Given the description of an element on the screen output the (x, y) to click on. 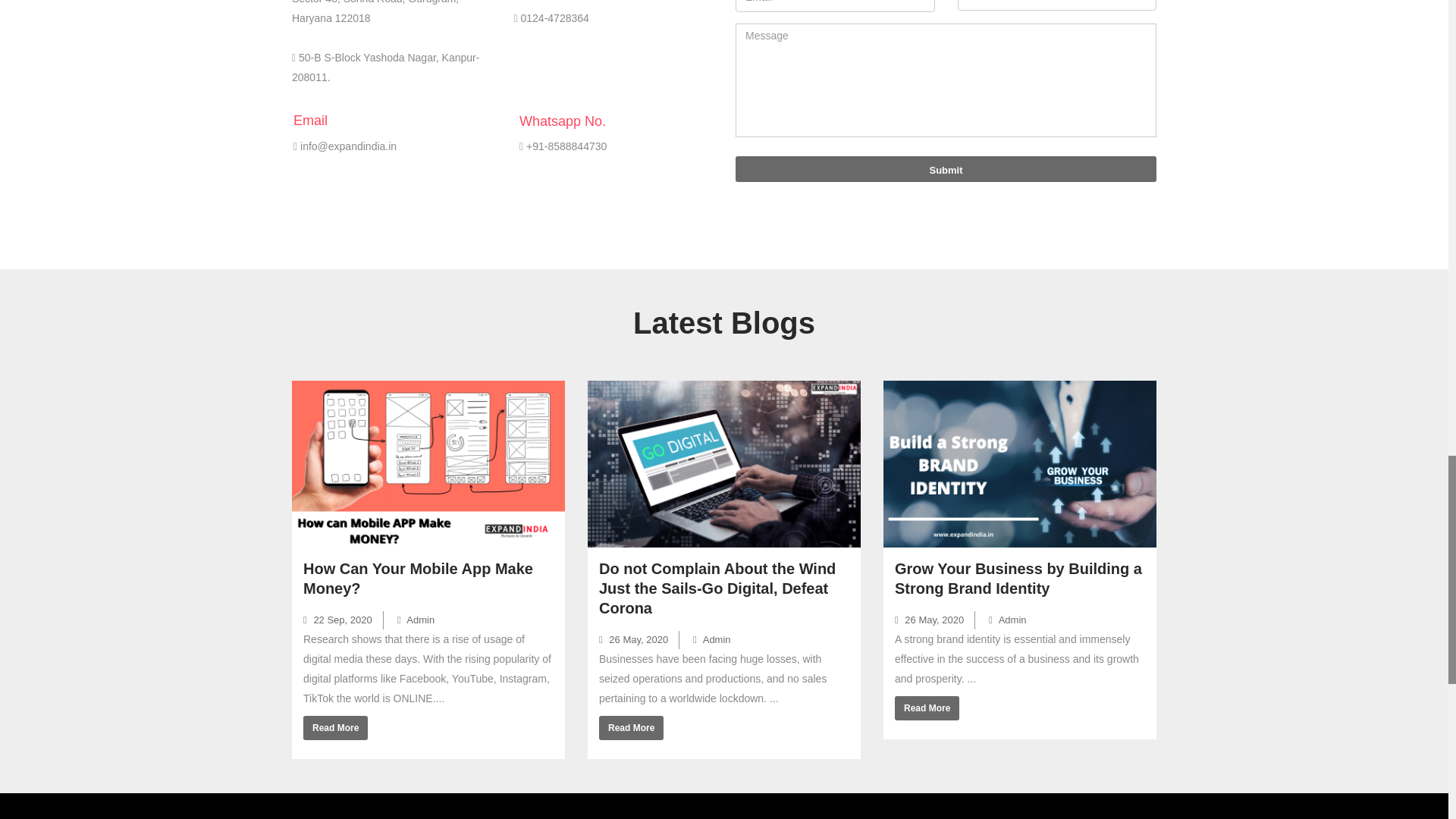
Admin (416, 619)
Read More (335, 727)
Submit (945, 168)
22 Sep, 2020 (337, 619)
How Can Your Mobile App Make Money? (417, 578)
